Given the description of an element on the screen output the (x, y) to click on. 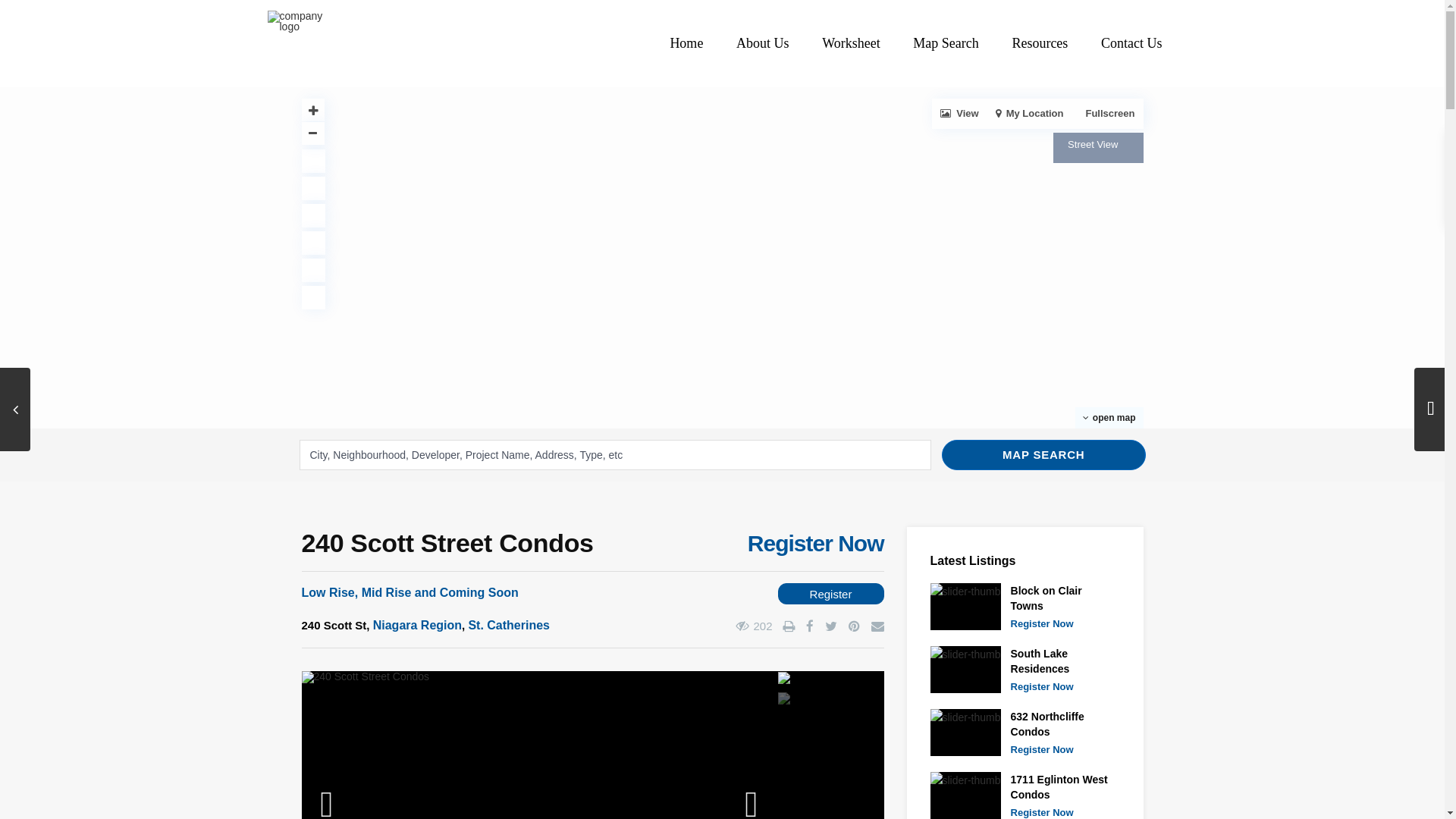
MAP SEARCH (1043, 454)
Low Rise (328, 592)
MAP SEARCH (1043, 454)
Register (830, 593)
Resources (1039, 42)
Worksheet (850, 42)
Home (685, 42)
Niagara Region (416, 625)
Mid Rise (386, 592)
Coming Soon (478, 592)
